Given the description of an element on the screen output the (x, y) to click on. 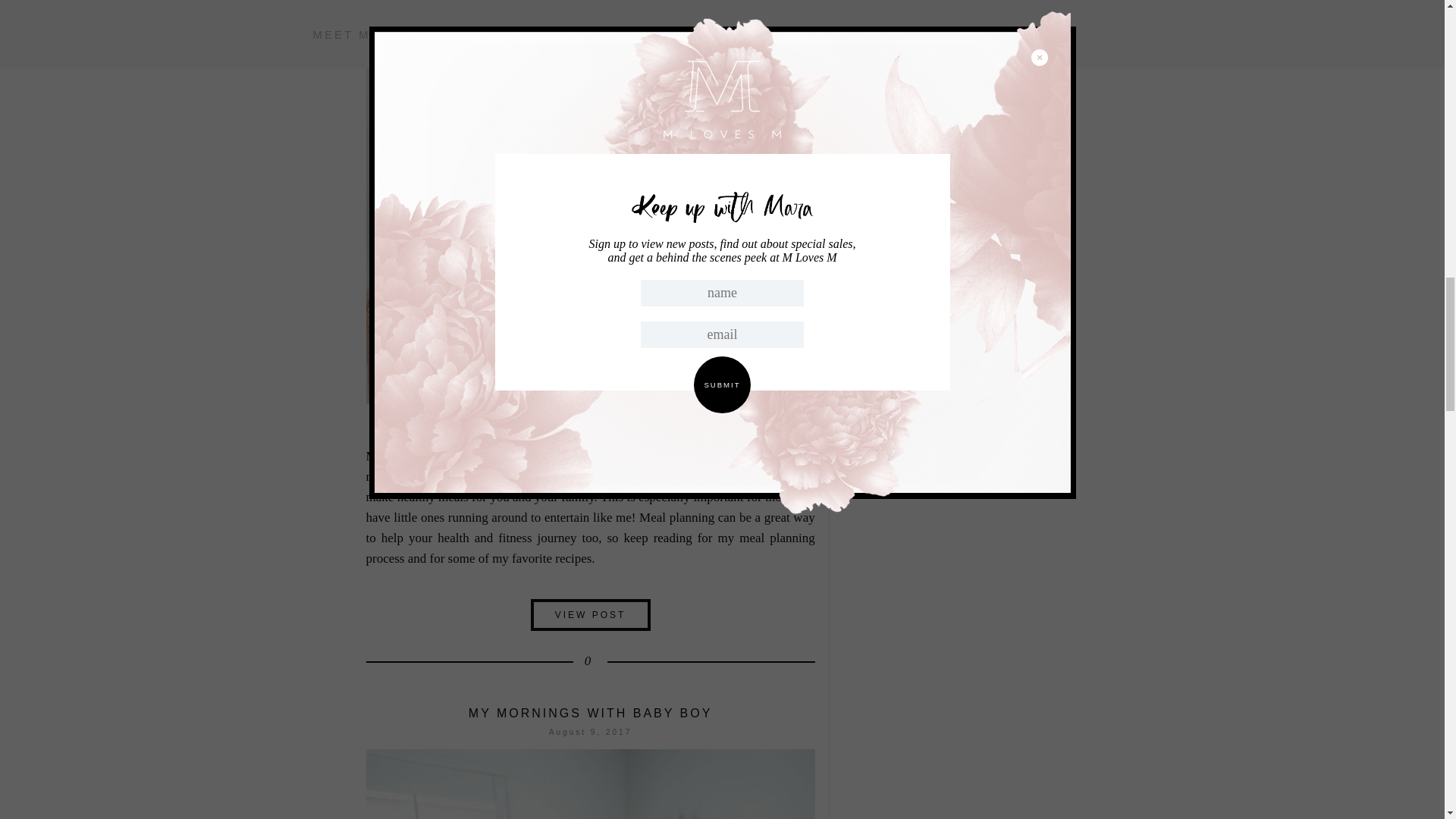
Permanent Link to My Mornings with Baby Boy (590, 712)
